Given the description of an element on the screen output the (x, y) to click on. 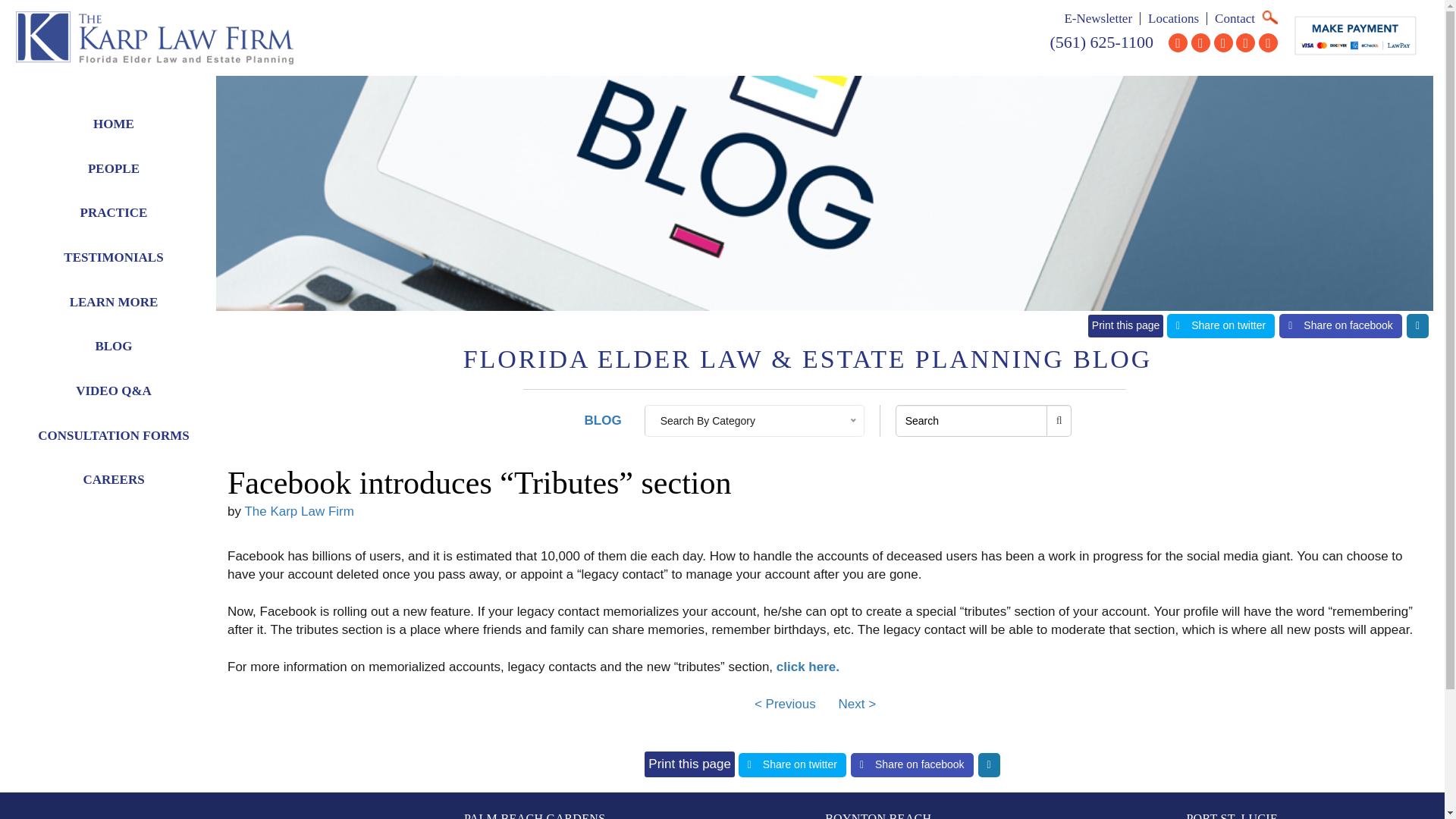
PEOPLE (113, 169)
TESTIMONIALS (113, 257)
Locations (1173, 18)
Contact (1234, 18)
Locations (1173, 18)
Practice (113, 212)
People (113, 169)
Contact (1234, 18)
HOME (113, 124)
LEARN MORE (113, 302)
Home (113, 124)
PRACTICE (113, 212)
Make Payment (1355, 35)
E-Newsletter (1098, 18)
E-Newsletter (1098, 18)
